Given the description of an element on the screen output the (x, y) to click on. 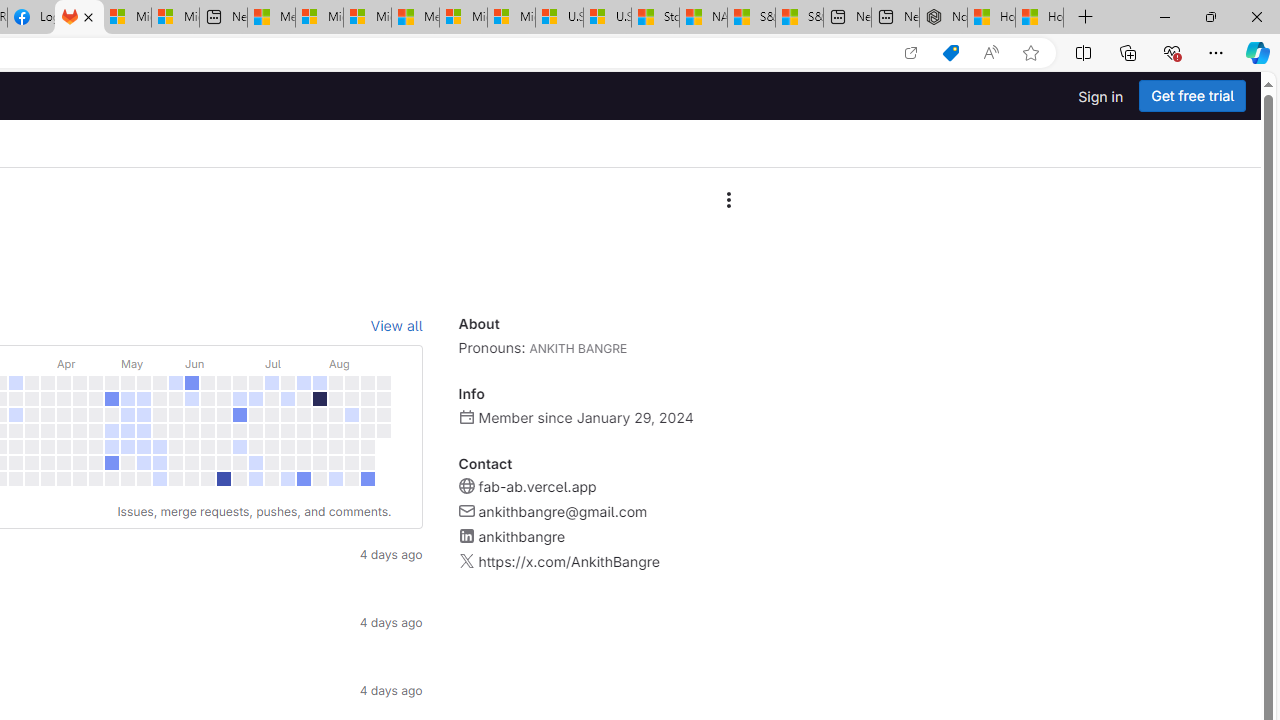
Get free trial (1192, 95)
Sign in (1100, 95)
